Given the description of an element on the screen output the (x, y) to click on. 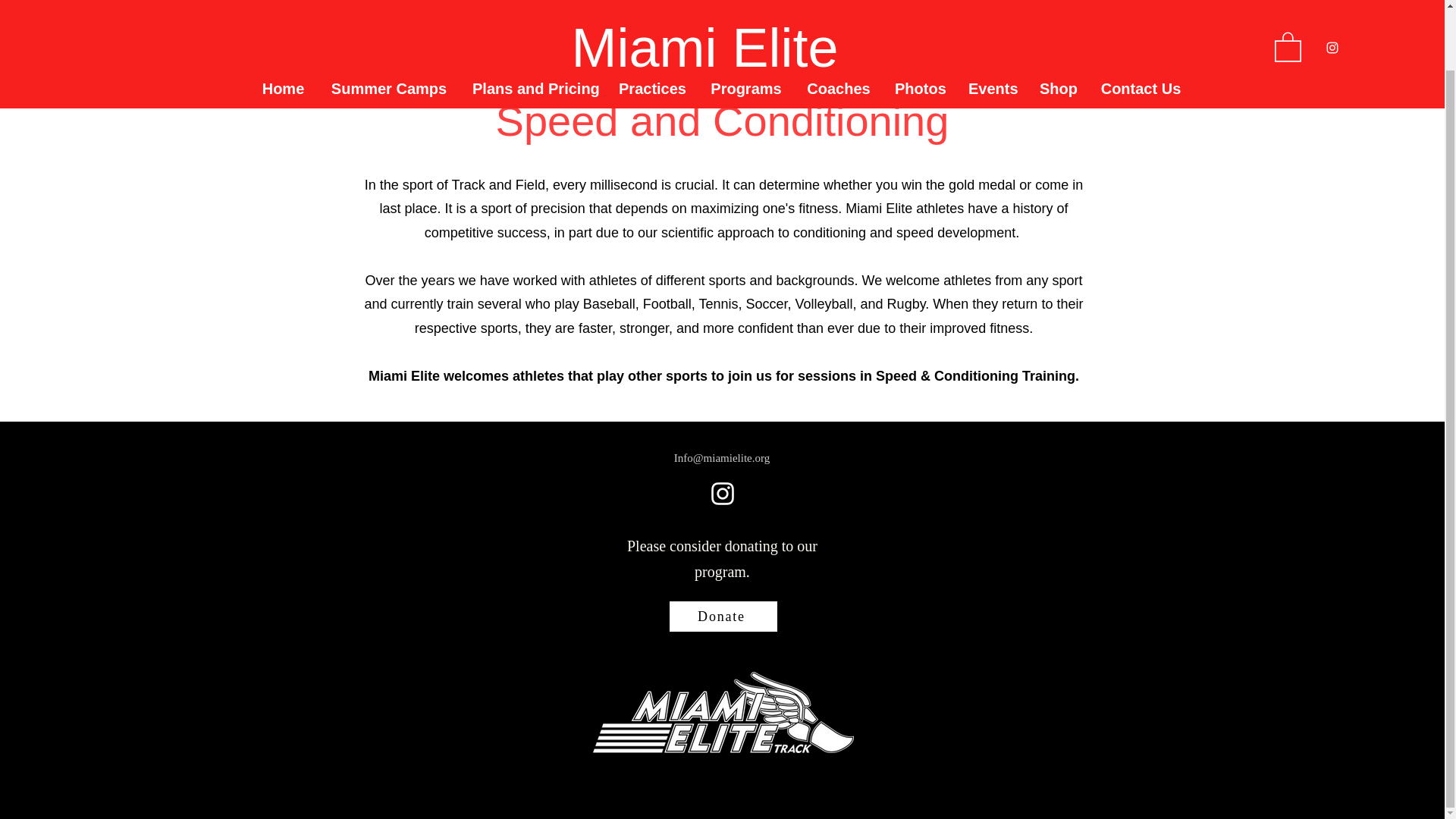
Photos (919, 22)
Home (282, 22)
Practices (652, 22)
Events (991, 22)
Shop (1057, 22)
Donate (722, 616)
Summer Camps (389, 22)
Plans and Pricing (534, 22)
Contact Us (1140, 22)
Coaches (838, 22)
